Given the description of an element on the screen output the (x, y) to click on. 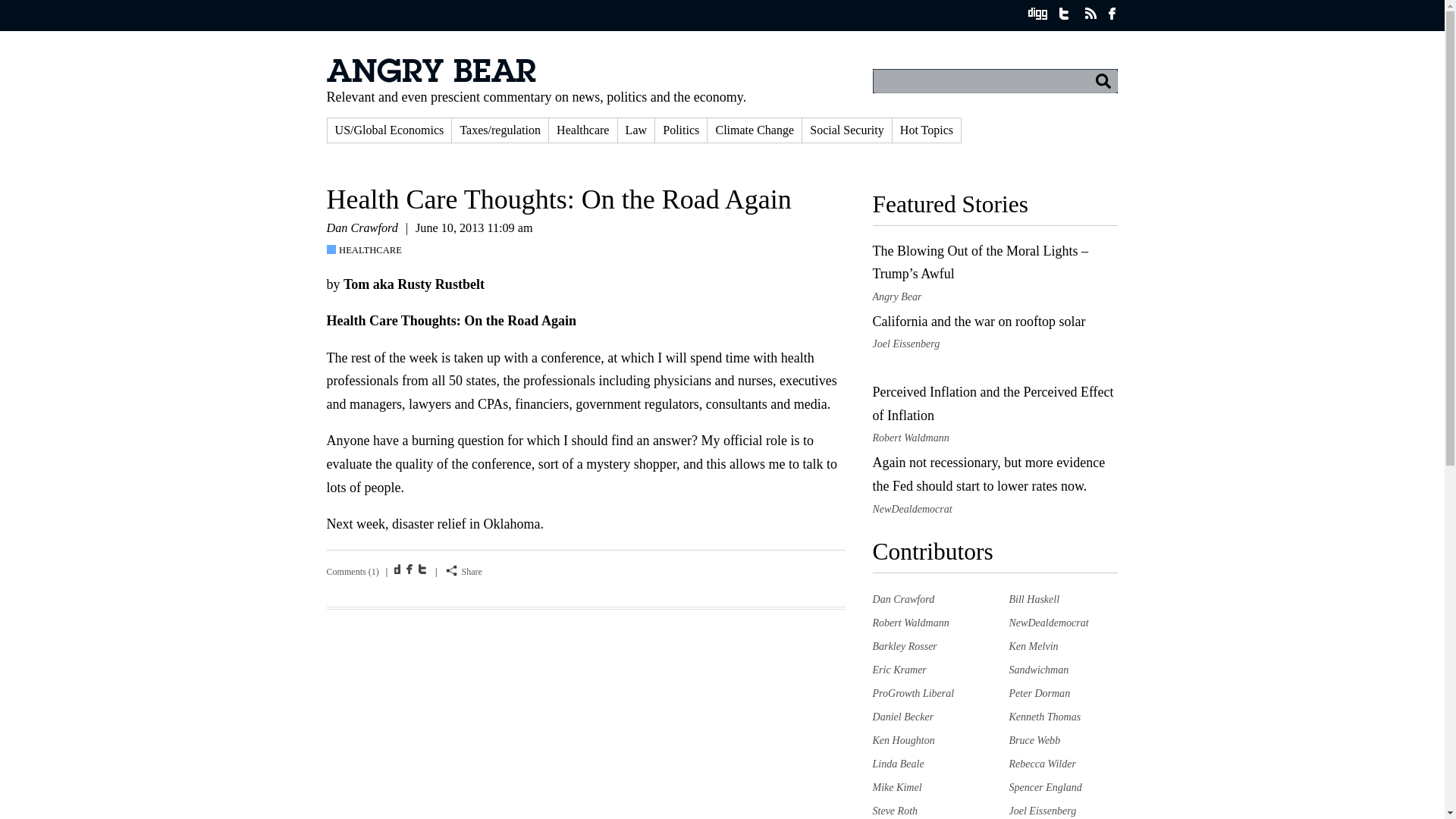
Law (636, 129)
Health Care Thoughts: On the Road Again (558, 199)
Twitter (423, 569)
Perceived Inflation and the Perceived Effect of Inflation (992, 403)
Robert Waldmann (910, 622)
Ken Melvin (1033, 645)
Facebook (411, 569)
Politics (680, 129)
Linda Beale (897, 763)
California and the war on rooftop solar (978, 321)
